Given the description of an element on the screen output the (x, y) to click on. 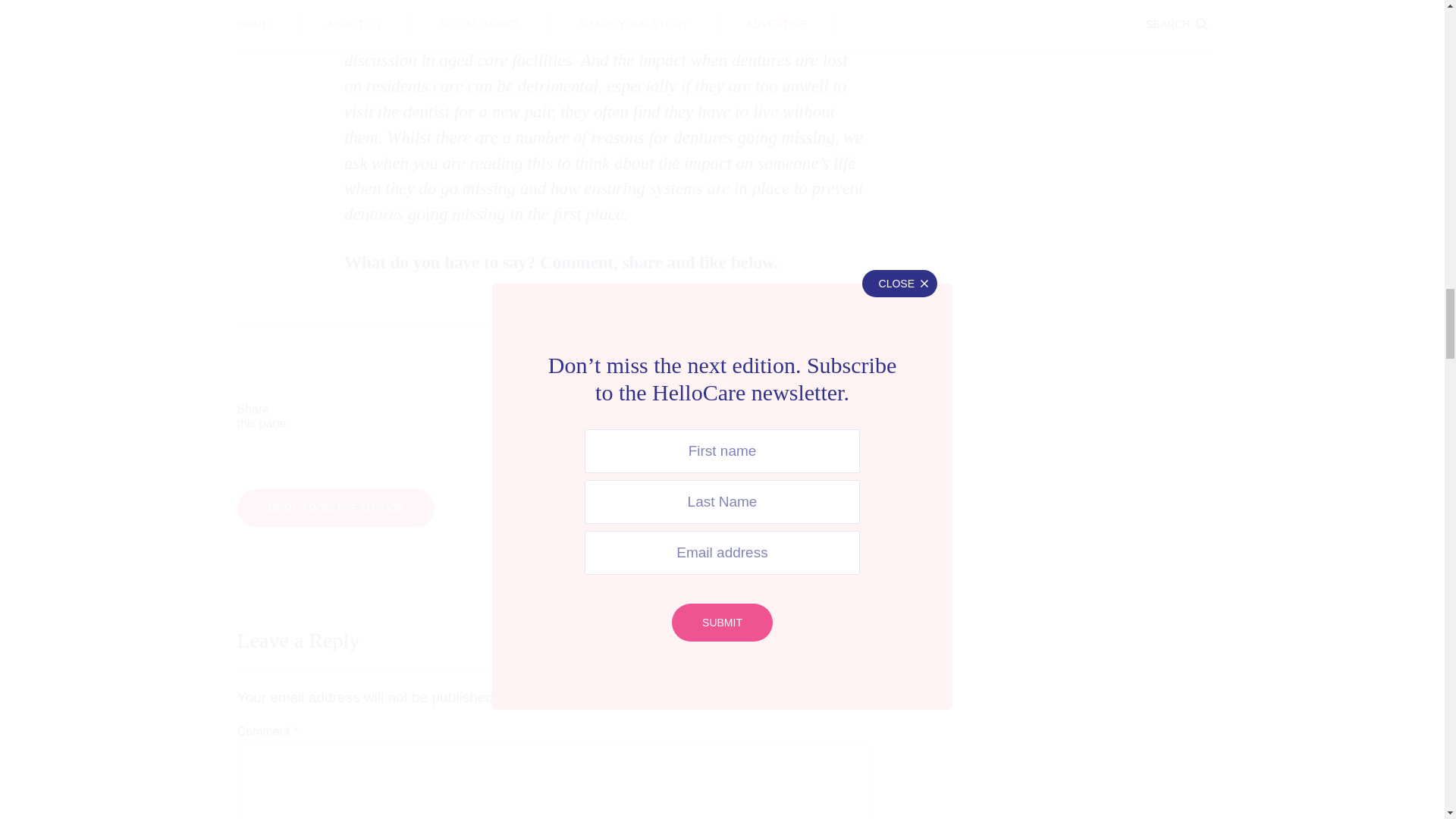
Share on linkedIn (652, 417)
Share on Facebook (372, 417)
Share on Twitter (512, 417)
Share via Email (792, 417)
